Given the description of an element on the screen output the (x, y) to click on. 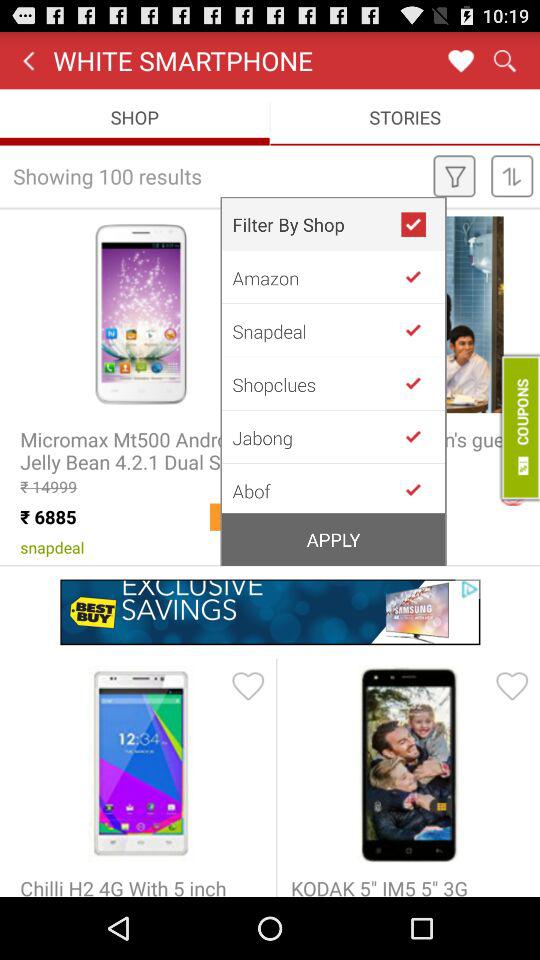
filter by snapdeal shop (421, 330)
